Given the description of an element on the screen output the (x, y) to click on. 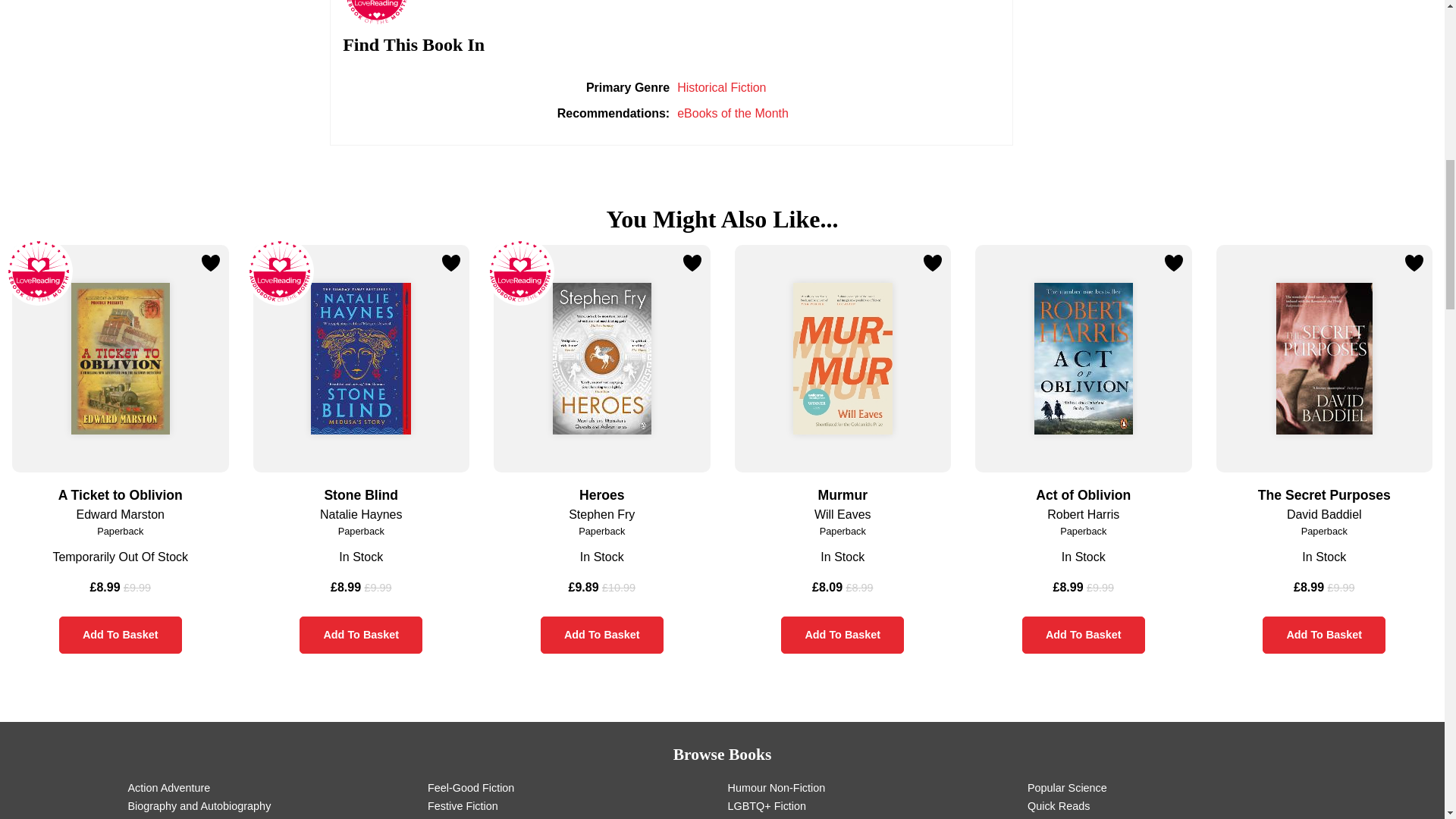
Add To Basket (360, 634)
Add To Basket (601, 634)
Add To Basket (1324, 634)
Add To Basket (1083, 634)
Add To Basket (842, 634)
Add To Basket (120, 634)
